Given the description of an element on the screen output the (x, y) to click on. 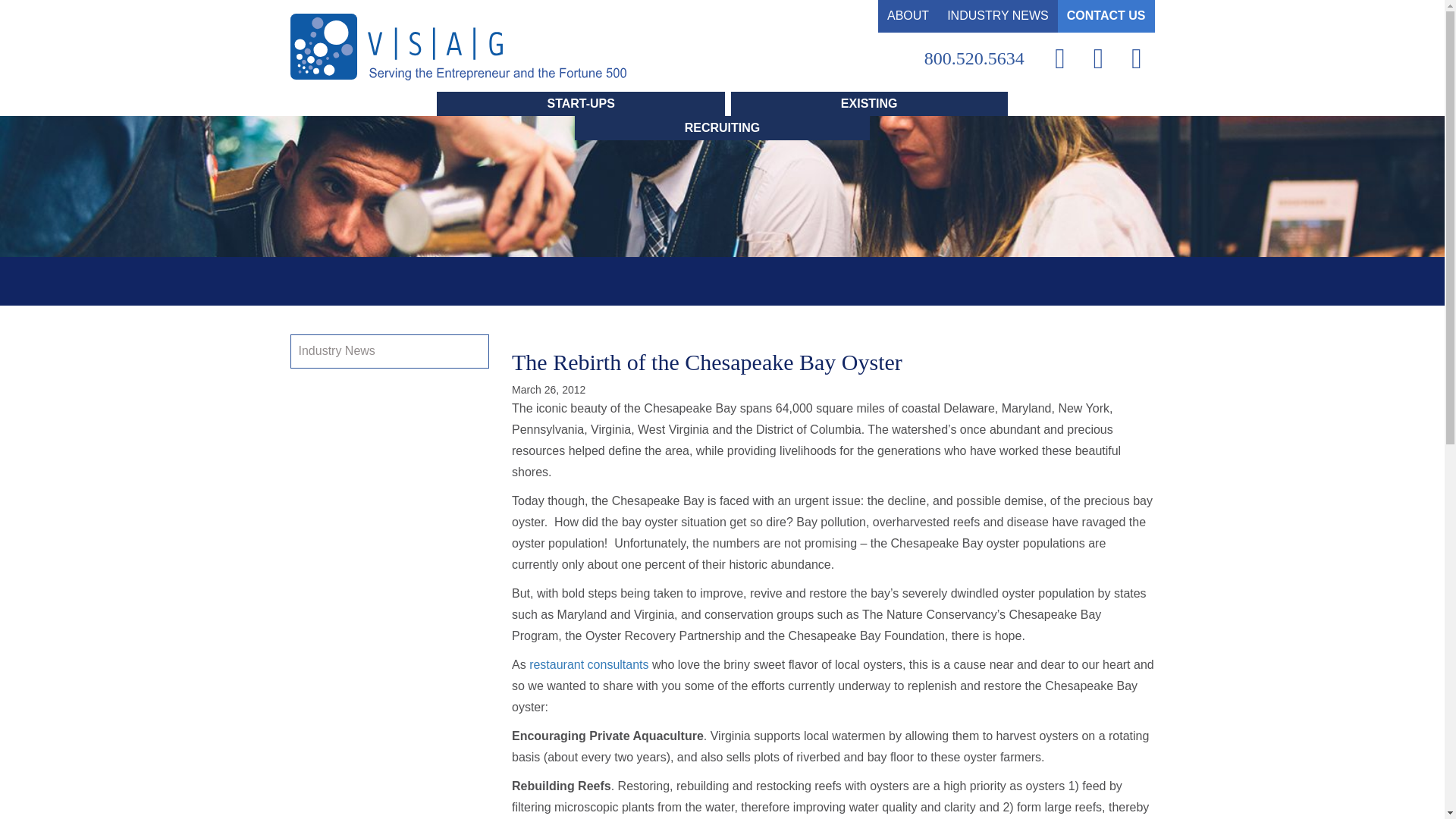
INDUSTRY NEWS (997, 16)
Industry News (336, 350)
START-UPS (579, 103)
EXISTING (868, 103)
restaurant consultants (588, 664)
CONTACT US (1106, 16)
ABOUT (907, 16)
RECRUITING (722, 128)
800.520.5634 (974, 57)
